Given the description of an element on the screen output the (x, y) to click on. 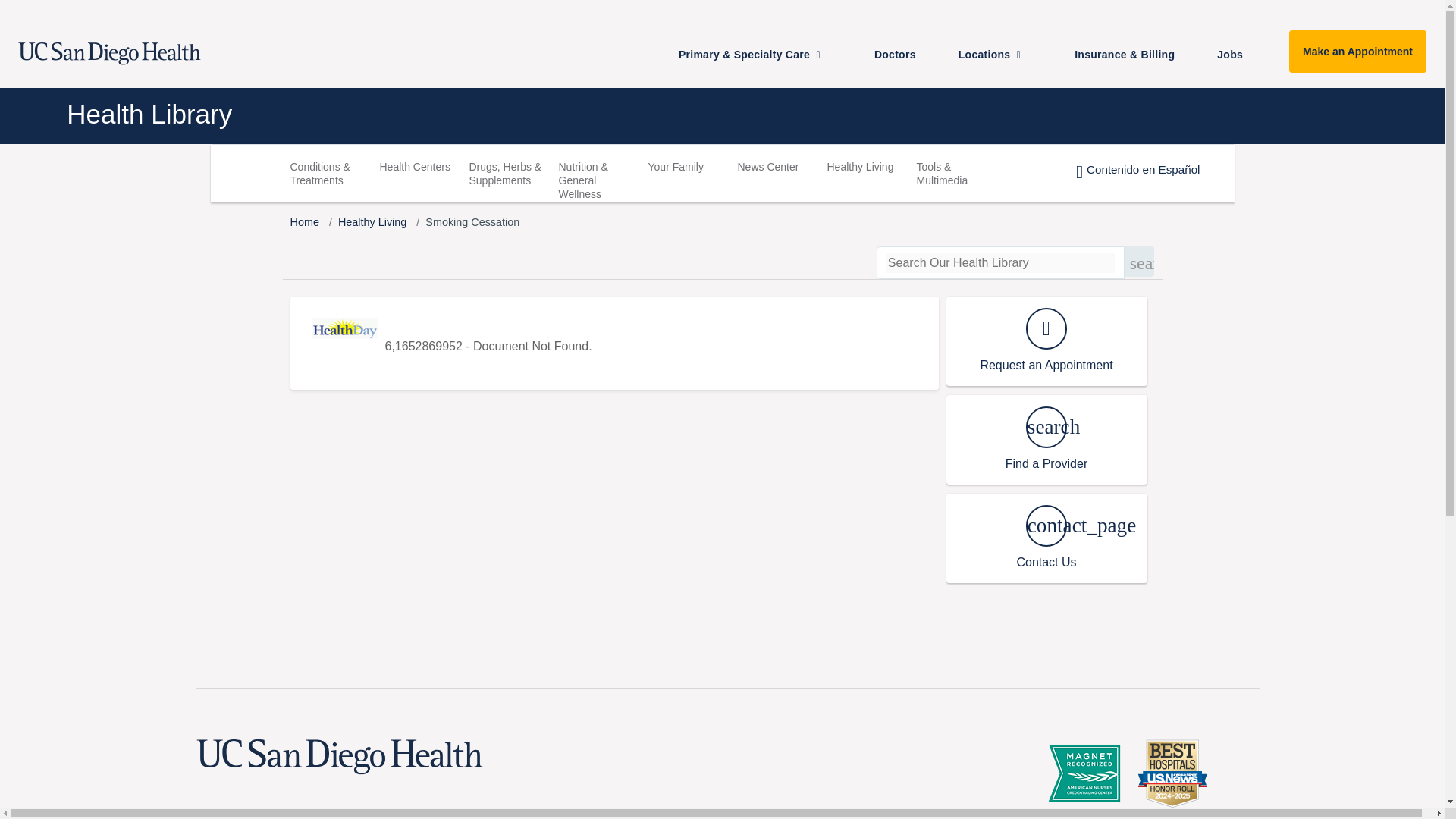
Health Library (603, 114)
Jobs (1236, 54)
Doctors (901, 54)
Locations   (1000, 54)
Make an Appointment (1357, 51)
Doctors (901, 54)
